Given the description of an element on the screen output the (x, y) to click on. 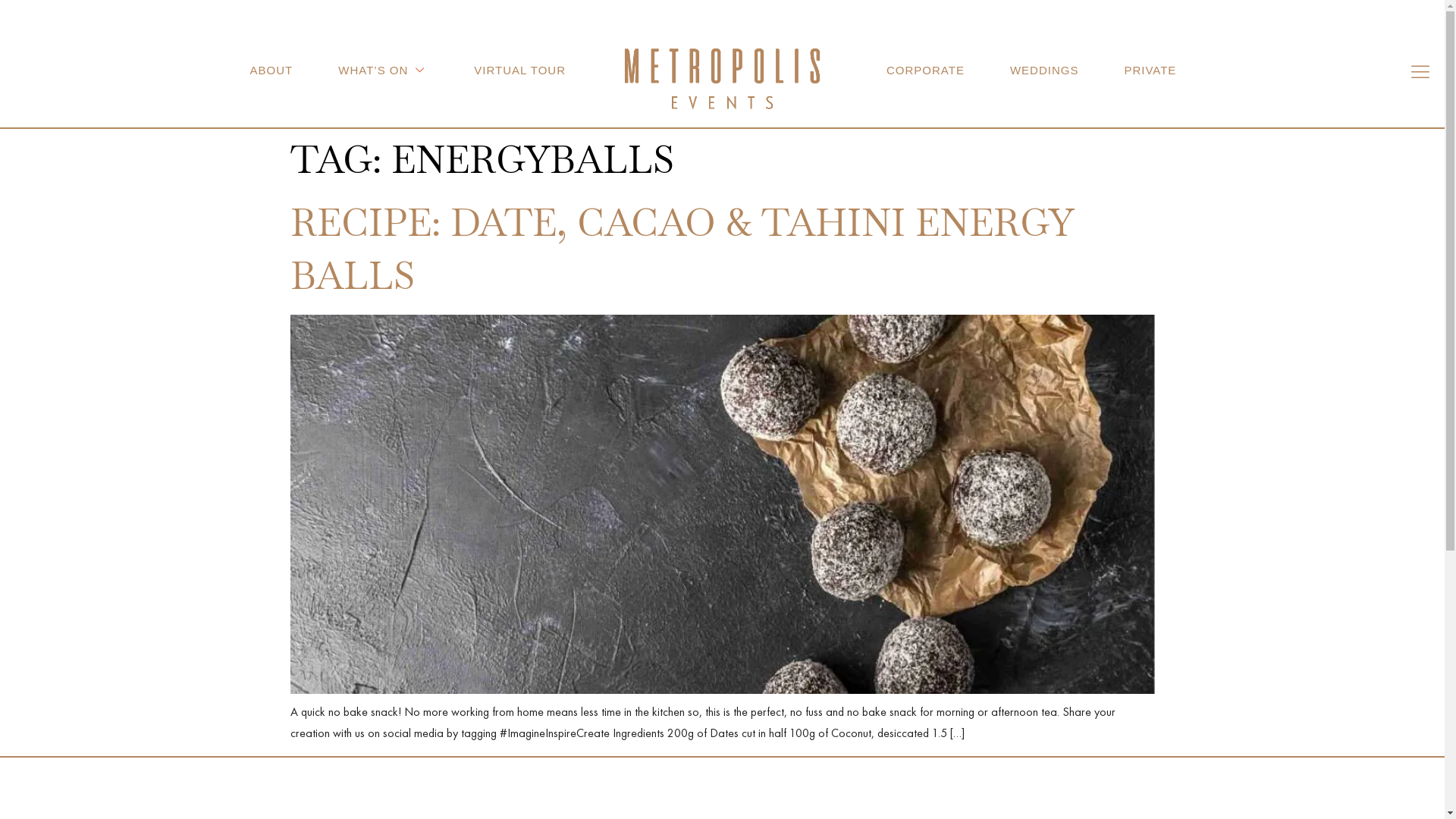
WEDDINGS Element type: text (1044, 70)
RECIPE: DATE, CACAO & TAHINI ENERGY BALLS Element type: text (680, 248)
ABOUT Element type: text (271, 70)
VIRTUAL TOUR Element type: text (519, 70)
PRIVATE Element type: text (1149, 70)
CORPORATE Element type: text (925, 70)
